Given the description of an element on the screen output the (x, y) to click on. 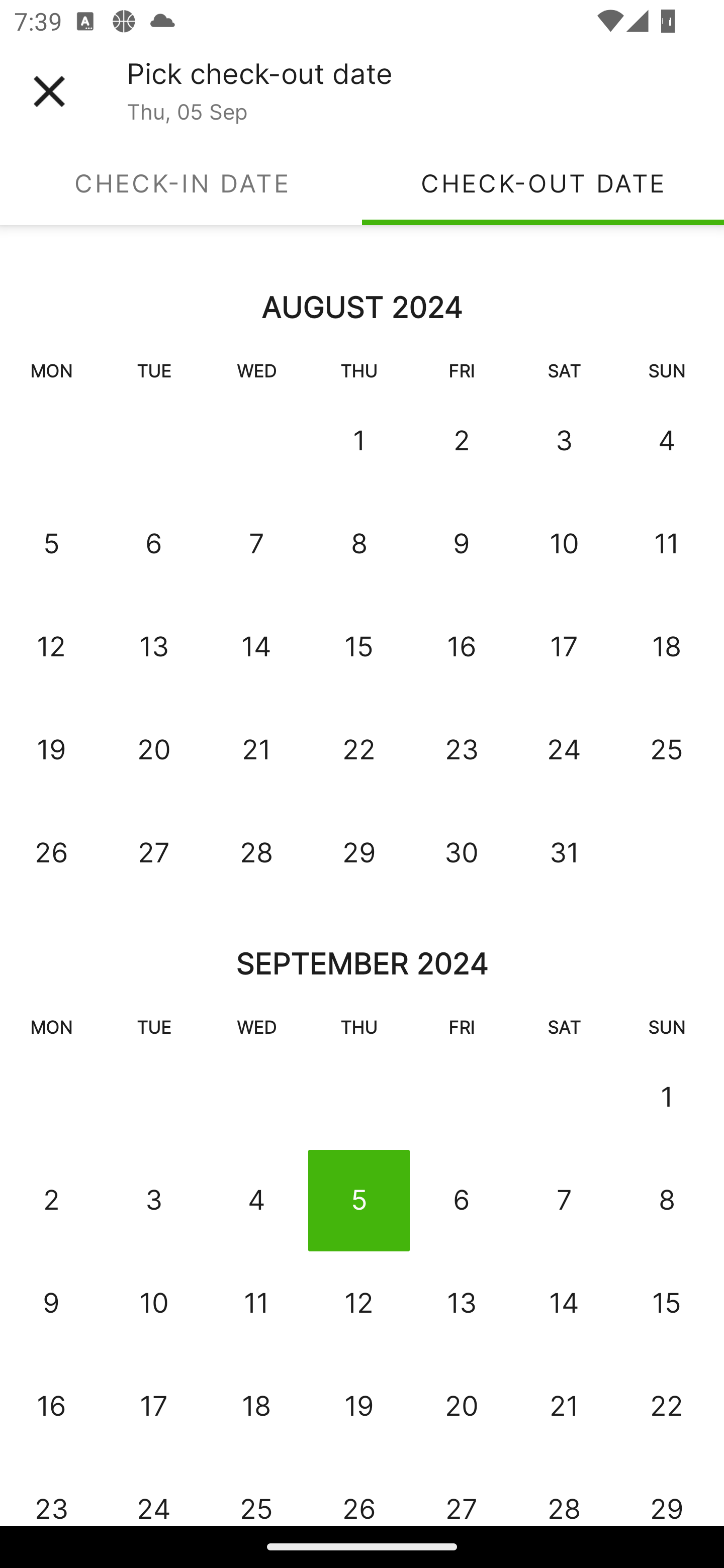
Check-in Date CHECK-IN DATE (181, 183)
